Given the description of an element on the screen output the (x, y) to click on. 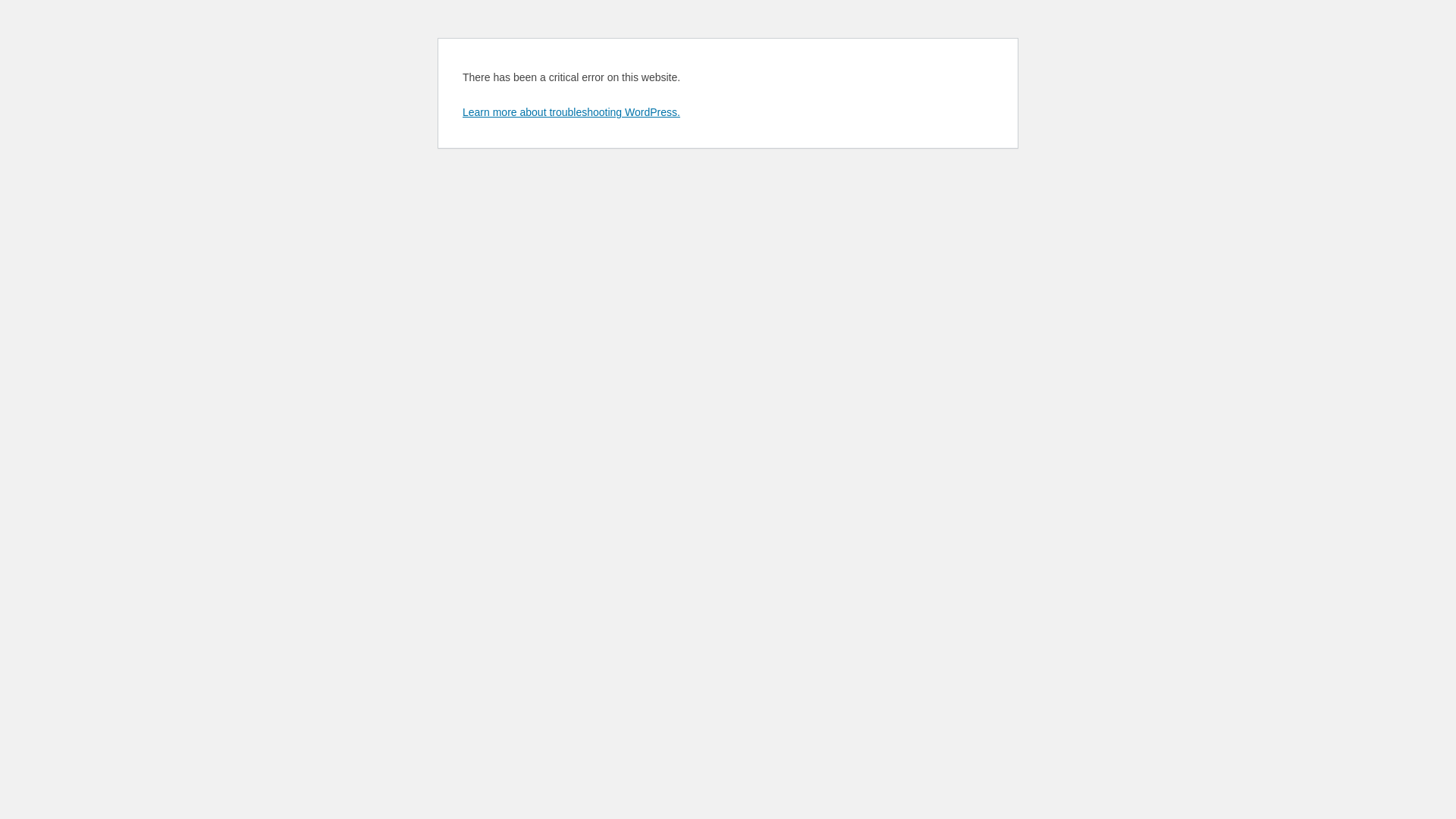
Learn more about troubleshooting WordPress. Element type: text (571, 112)
